Given the description of an element on the screen output the (x, y) to click on. 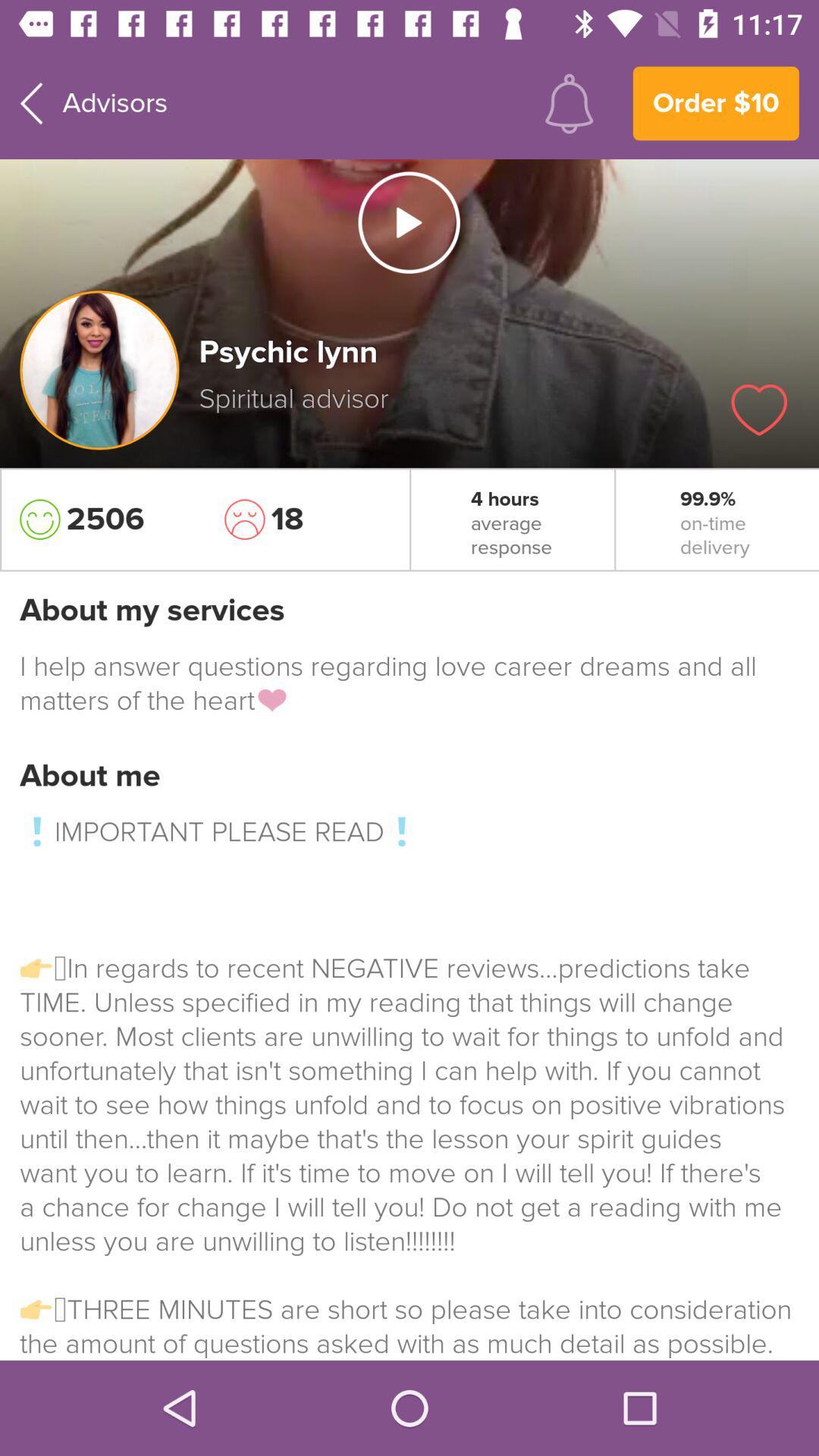
this turns alerts on and off on your phone for this app (569, 103)
